Given the description of an element on the screen output the (x, y) to click on. 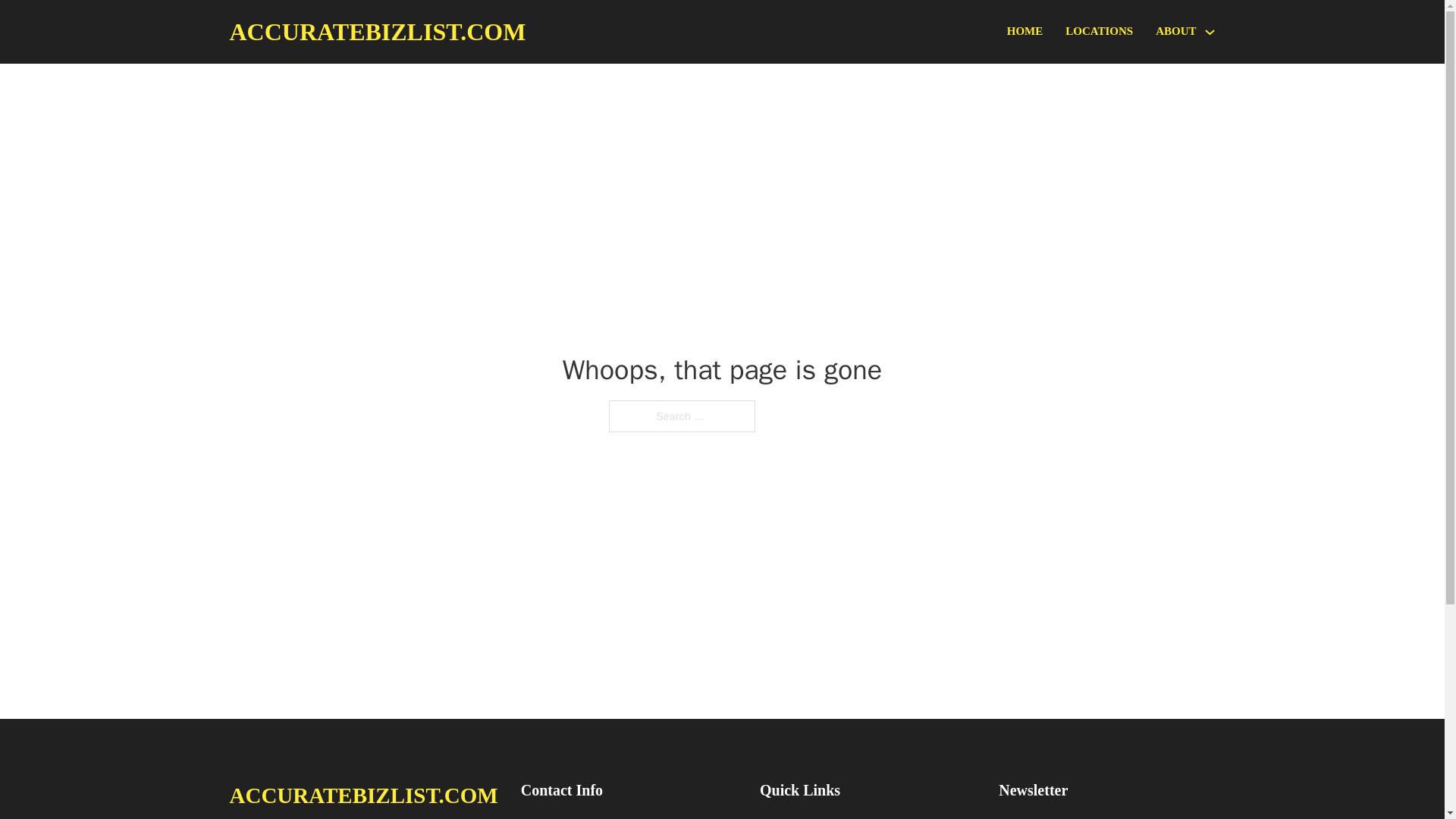
ACCURATEBIZLIST.COM (362, 795)
ACCURATEBIZLIST.COM (376, 31)
LOCATIONS (1098, 31)
HOME (1025, 31)
